Given the description of an element on the screen output the (x, y) to click on. 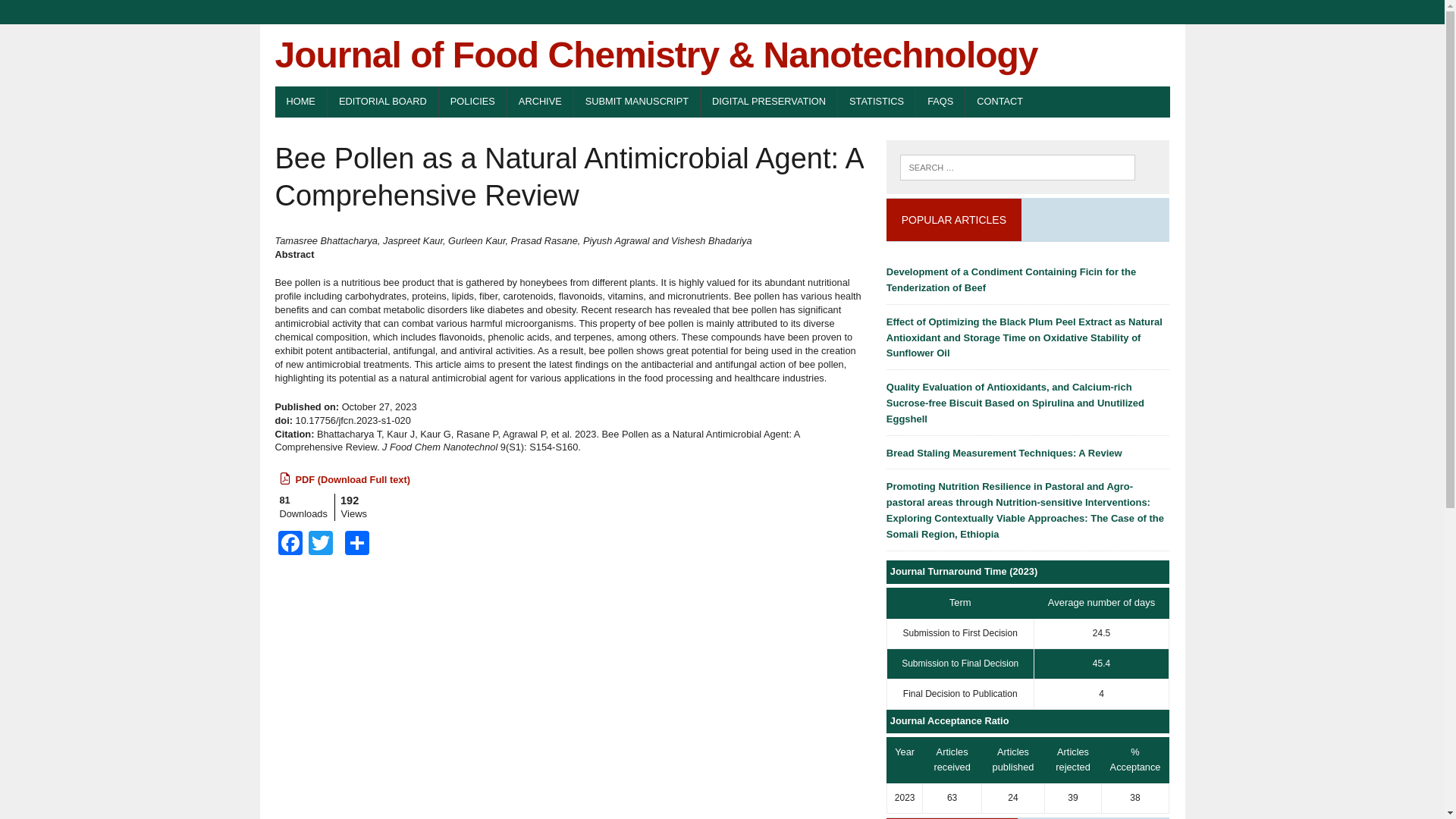
EDITORIAL BOARD (382, 101)
Twitter (319, 544)
Search (75, 14)
Twitter (319, 544)
ARCHIVE (539, 101)
jfcn-s1-jaspreet-kaur.pdf (351, 479)
Facebook (289, 544)
